Given the description of an element on the screen output the (x, y) to click on. 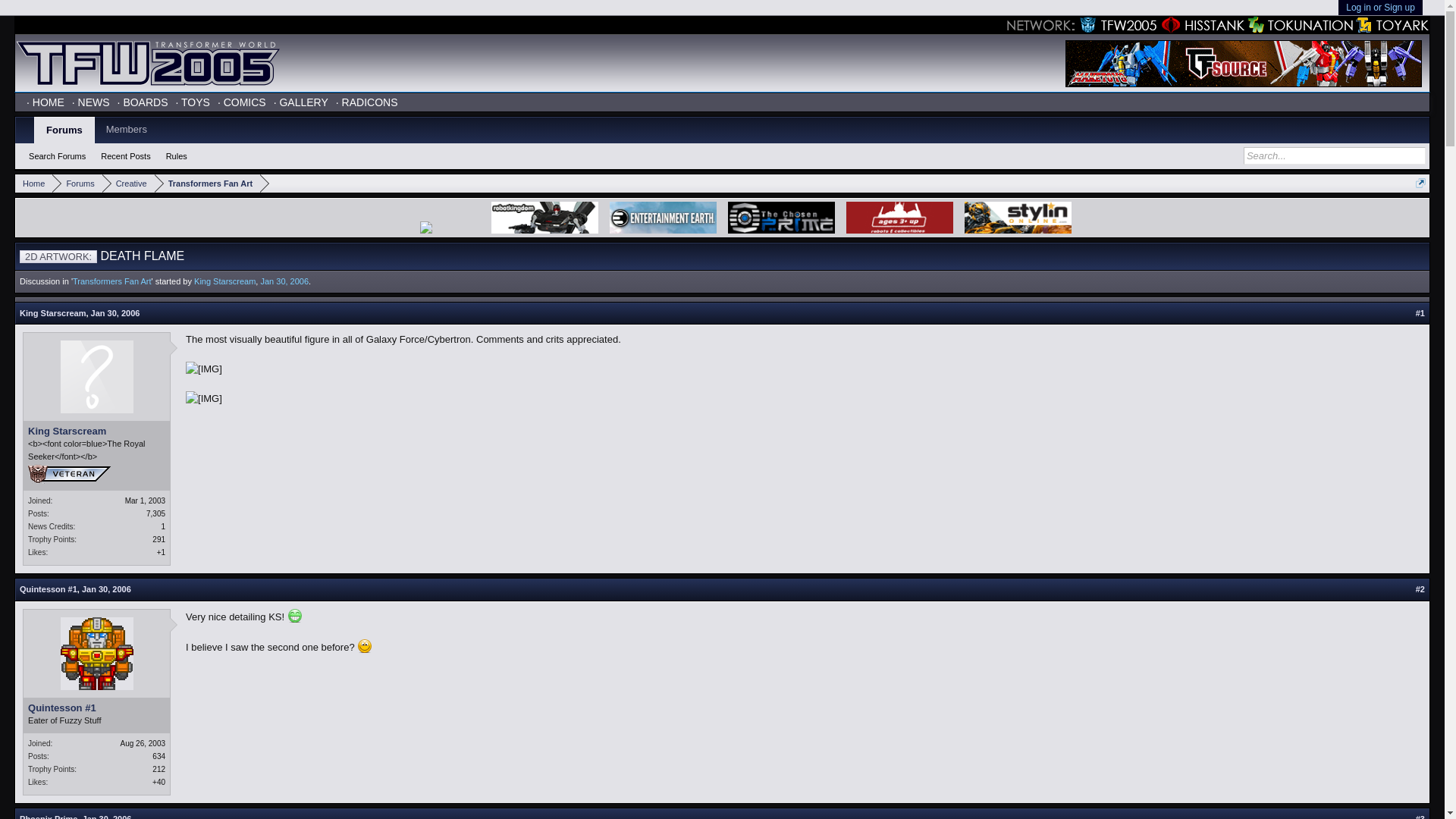
Phoenix Prime (48, 816)
Home (33, 183)
Transformers Fan Art (111, 280)
Open quick navigation (1420, 183)
Jan 30, 2006 (114, 312)
634 (158, 756)
291 (158, 539)
7,305 (156, 513)
Forums (76, 183)
Jan 30, 2006 (284, 280)
